Given the description of an element on the screen output the (x, y) to click on. 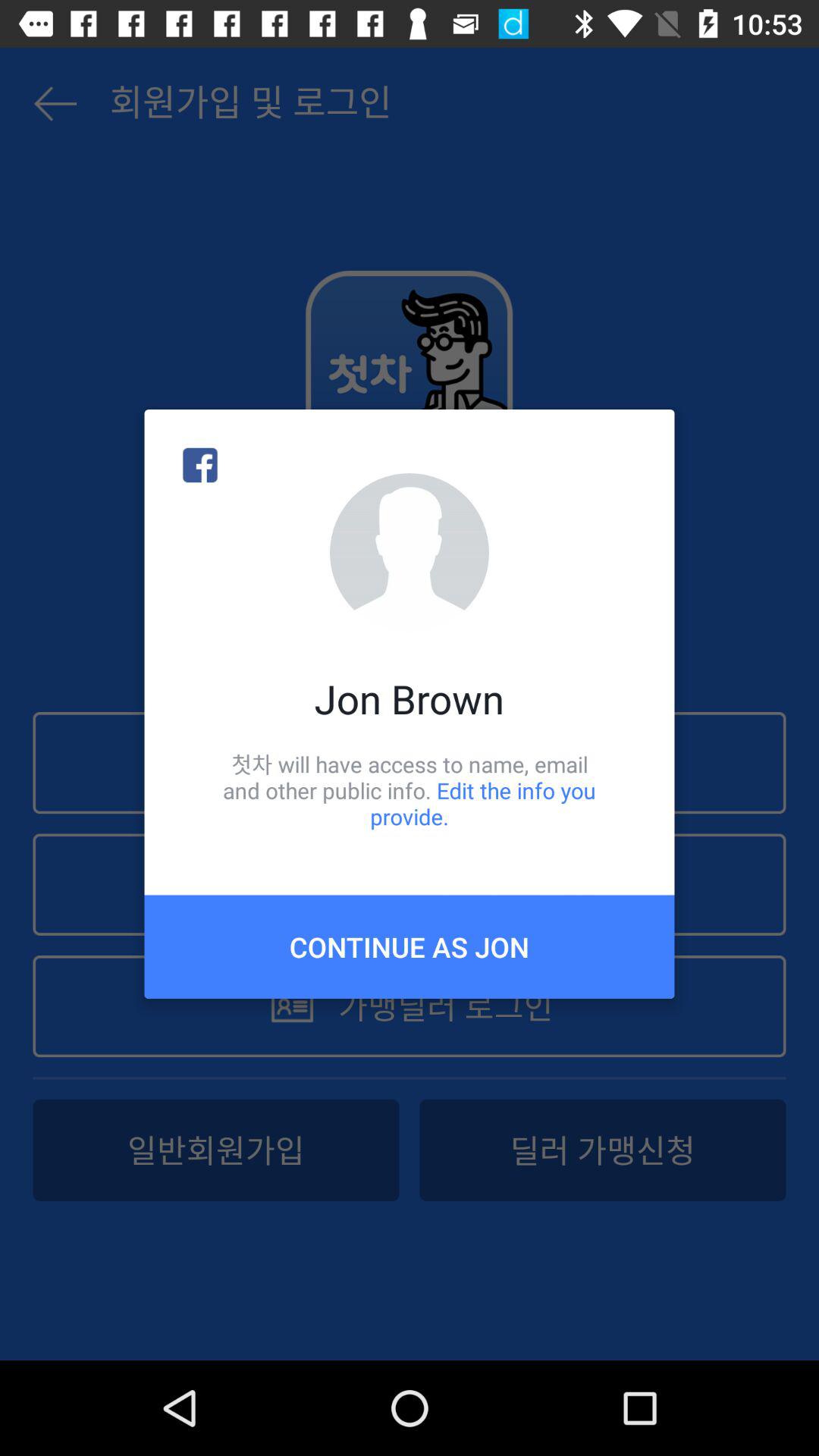
turn off the icon above continue as jon item (409, 790)
